Given the description of an element on the screen output the (x, y) to click on. 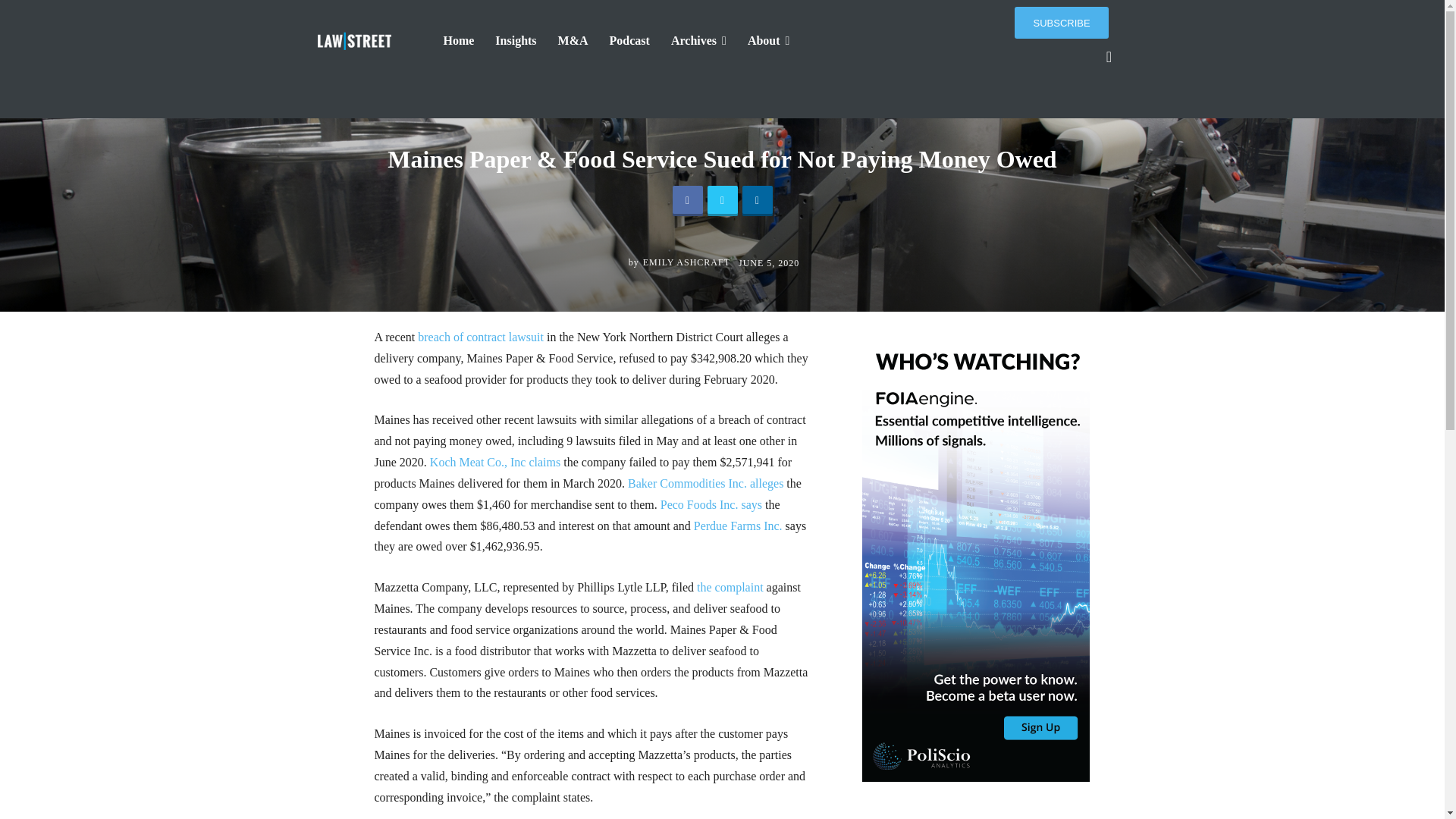
Subscribe (1061, 22)
Archives (698, 40)
Facebook (686, 200)
SUBSCRIBE (1061, 22)
FOOD SUPPLY (759, 97)
Peco Foods Inc. says (711, 504)
Perdue Farms Inc. (738, 525)
breach of contract lawsuit (480, 336)
Baker Commodities Inc. alleges (705, 482)
EMILY ASHCRAFT (686, 261)
